Given the description of an element on the screen output the (x, y) to click on. 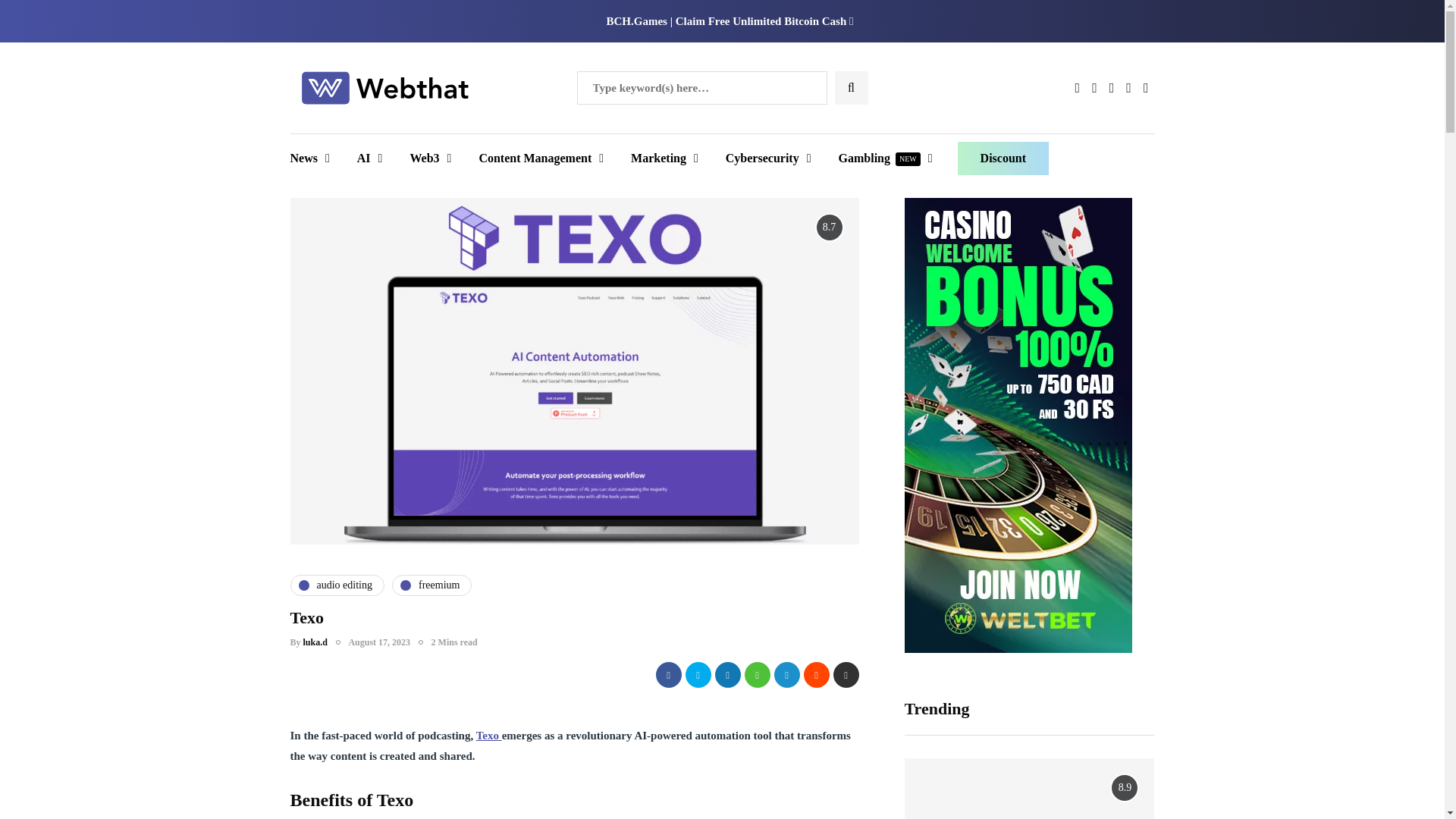
Share with Facebook (668, 674)
Share to WhatsApp (757, 674)
Posts by luka.d (314, 642)
Share by Email (845, 674)
Share with LinkedIn (726, 674)
News (315, 158)
Share to Telegram (786, 674)
Share on Reddit (816, 674)
Search (41, 16)
Tweet this (698, 674)
